Given the description of an element on the screen output the (x, y) to click on. 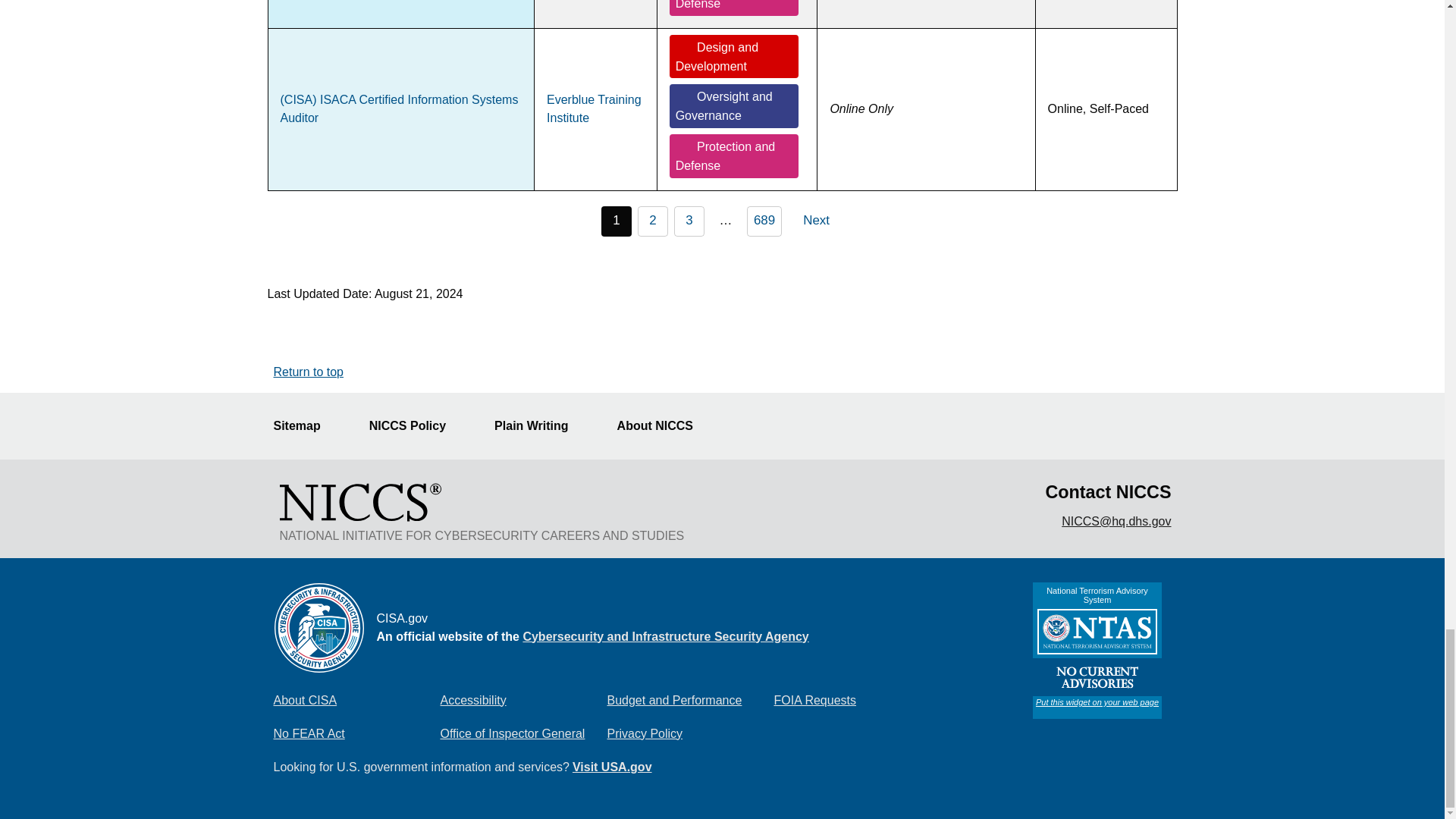
Go to next page (823, 221)
National Initiative for Cybersecurity Careers and Studies (360, 502)
Visit the USA.gov website (612, 767)
NICCS Policy (416, 426)
Sitemap (305, 426)
Go to last page (763, 221)
National Terrorism Advisory System (1096, 650)
About NICCS (664, 426)
Go to page 3 (689, 221)
Go to page 2 (652, 221)
